Given the description of an element on the screen output the (x, y) to click on. 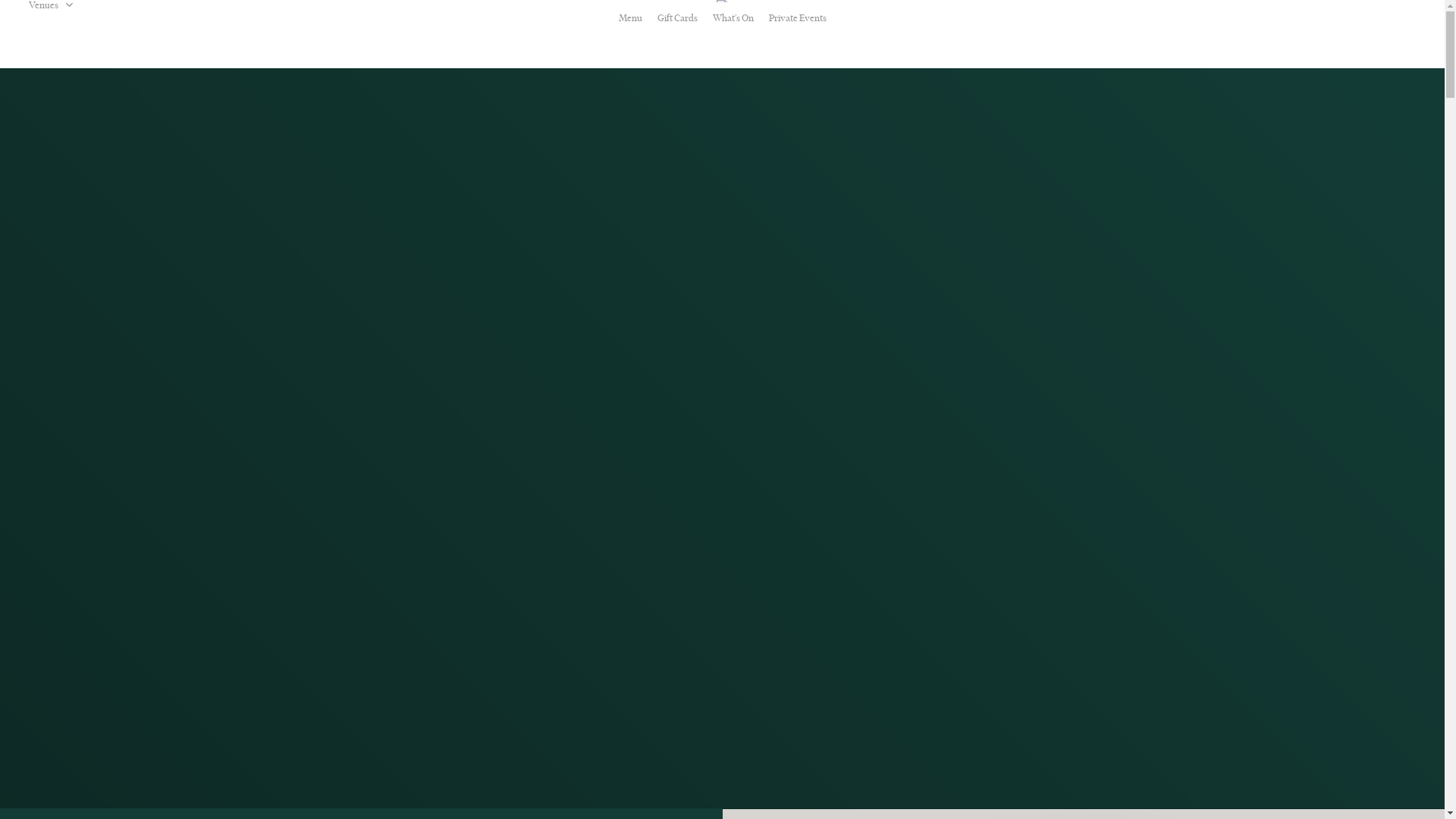
Gift Cards Element type: text (676, 17)
Menu Element type: text (630, 17)
Book Now Element type: text (1384, 39)
Private Events Element type: text (797, 17)
